Given the description of an element on the screen output the (x, y) to click on. 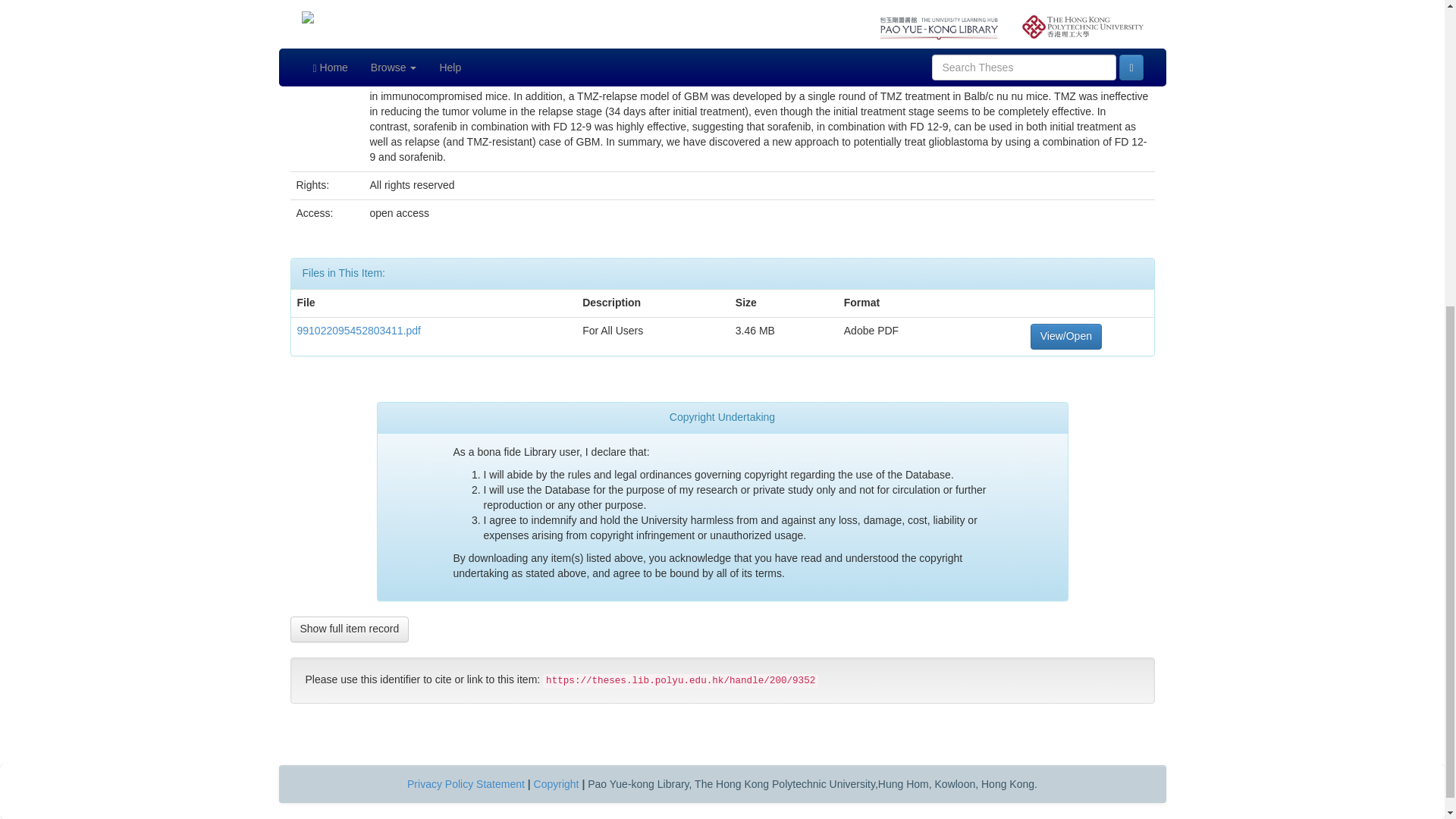
991022095452803411.pdf (359, 330)
Show full item record (349, 629)
Privacy Policy Statement (465, 784)
Copyright (556, 784)
